Given the description of an element on the screen output the (x, y) to click on. 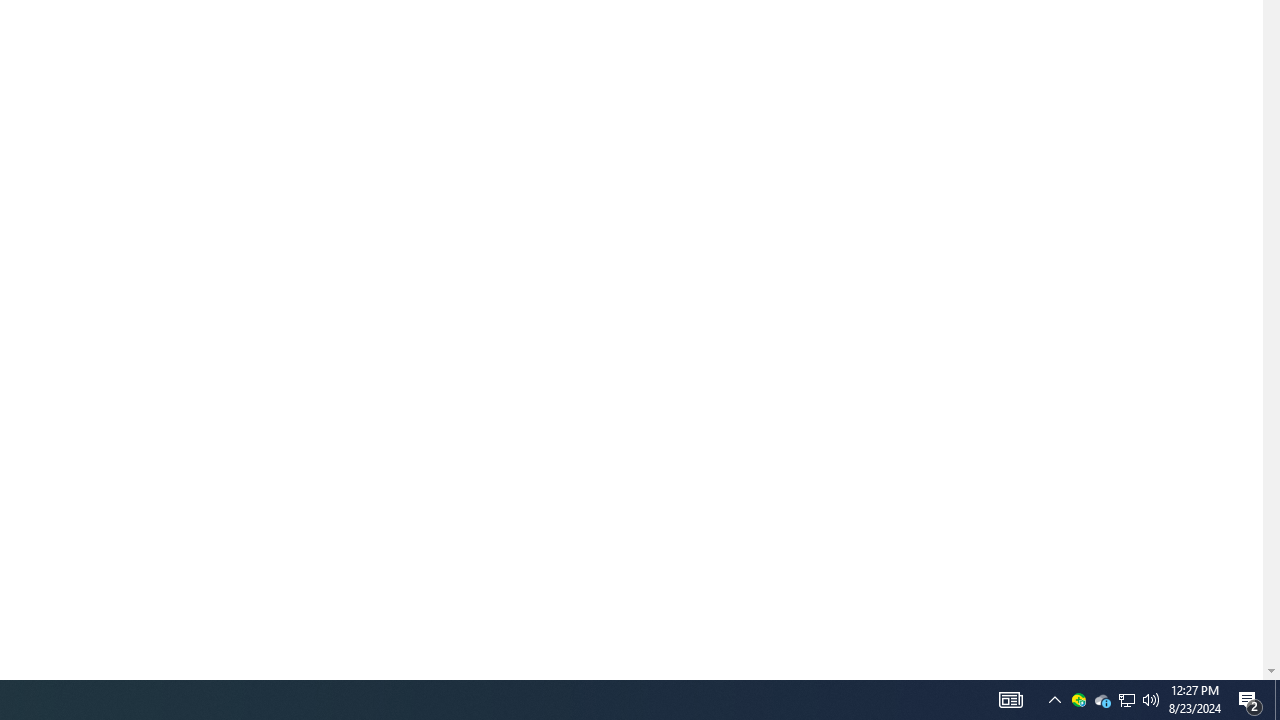
Q2790: 100% (1151, 699)
User Promoted Notification Area (1126, 699)
Notification Chevron (1055, 699)
AutomationID: 4105 (1010, 699)
System Promoted Notification Area (1078, 699)
Show desktop (1102, 699)
Action Center, 2 new notifications (1126, 699)
